Given the description of an element on the screen output the (x, y) to click on. 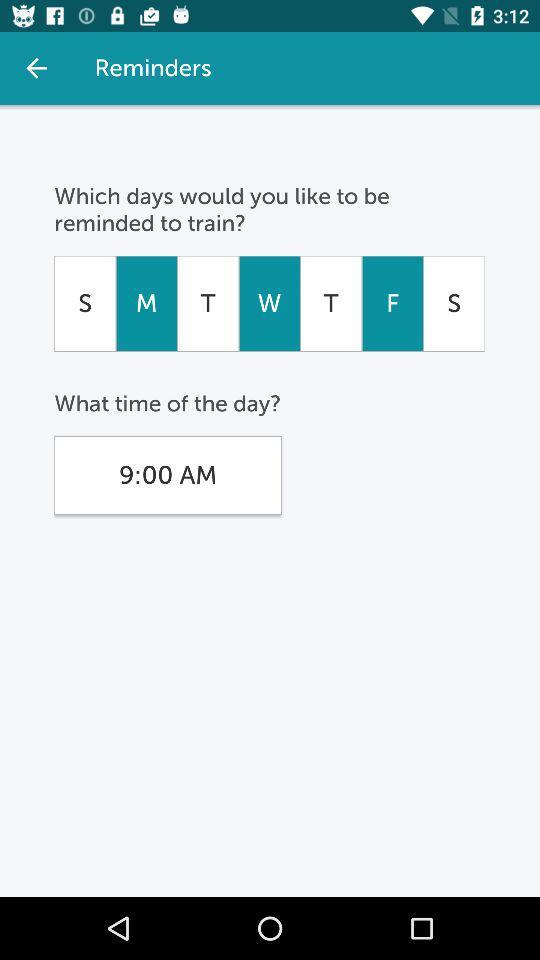
select w icon (269, 303)
